Given the description of an element on the screen output the (x, y) to click on. 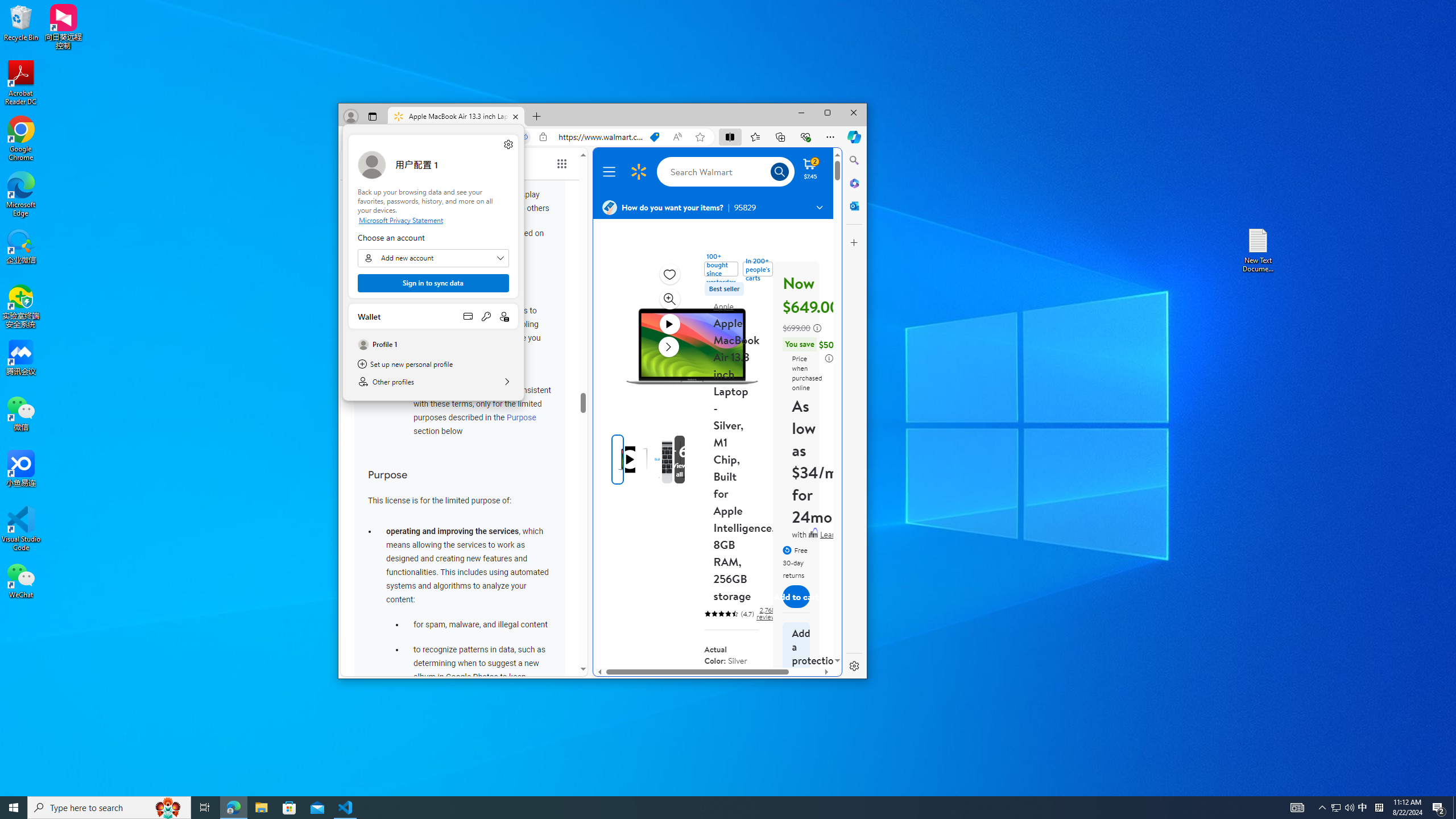
Cart contains 2 items Total Amount $7.45 (810, 168)
Apple (723, 306)
View video (1362, 807)
Manage profile settings (669, 323)
View all media (508, 144)
Silver (679, 459)
Q2790: 100% (745, 684)
Type here to search (1349, 807)
Task View (108, 807)
AutomationID: 4105 (204, 807)
